Given the description of an element on the screen output the (x, y) to click on. 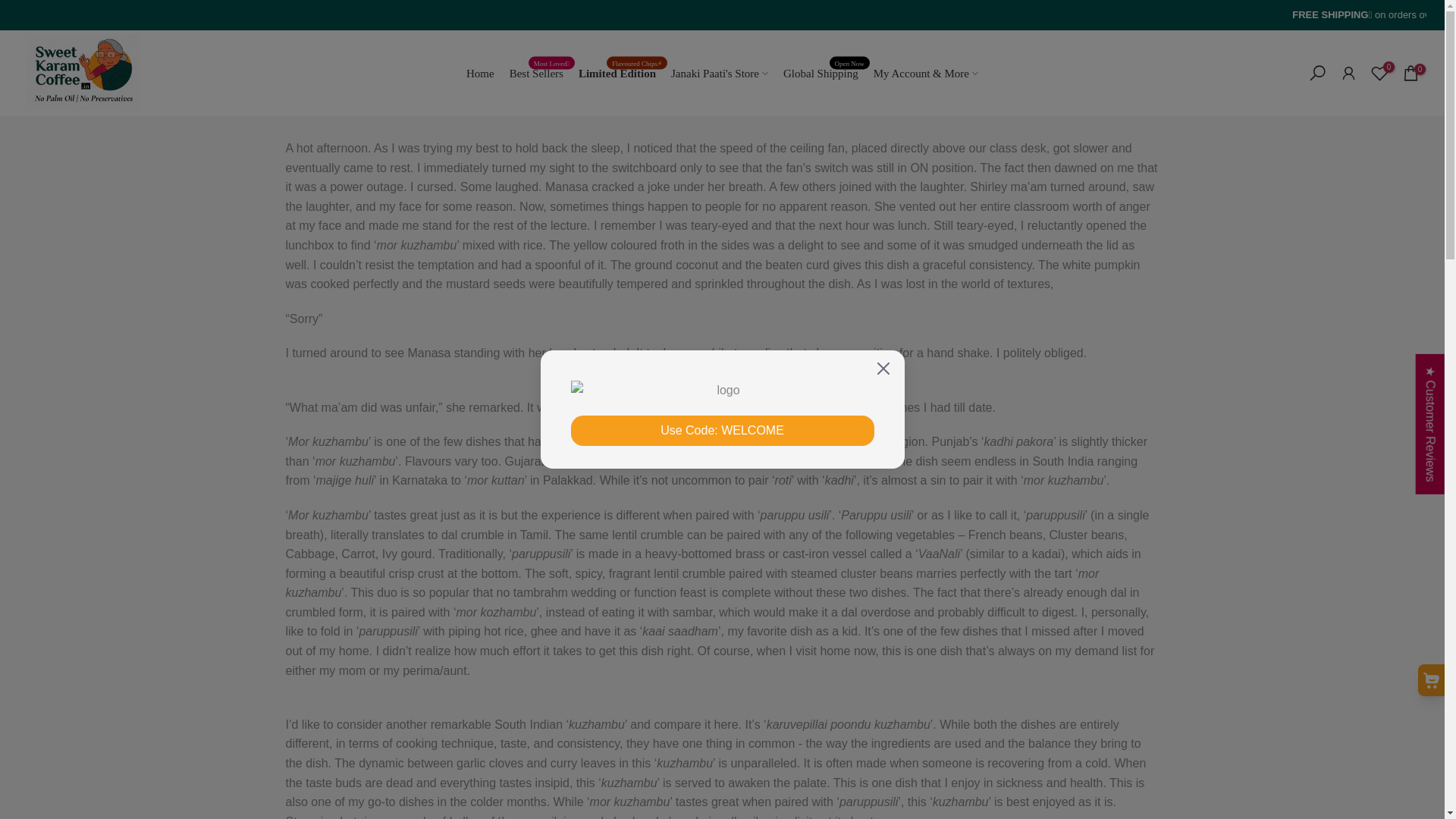
0 (1410, 72)
0 (1379, 72)
Skip to content (10, 7)
Janaki Paati's Store (719, 72)
Home (480, 72)
